Given the description of an element on the screen output the (x, y) to click on. 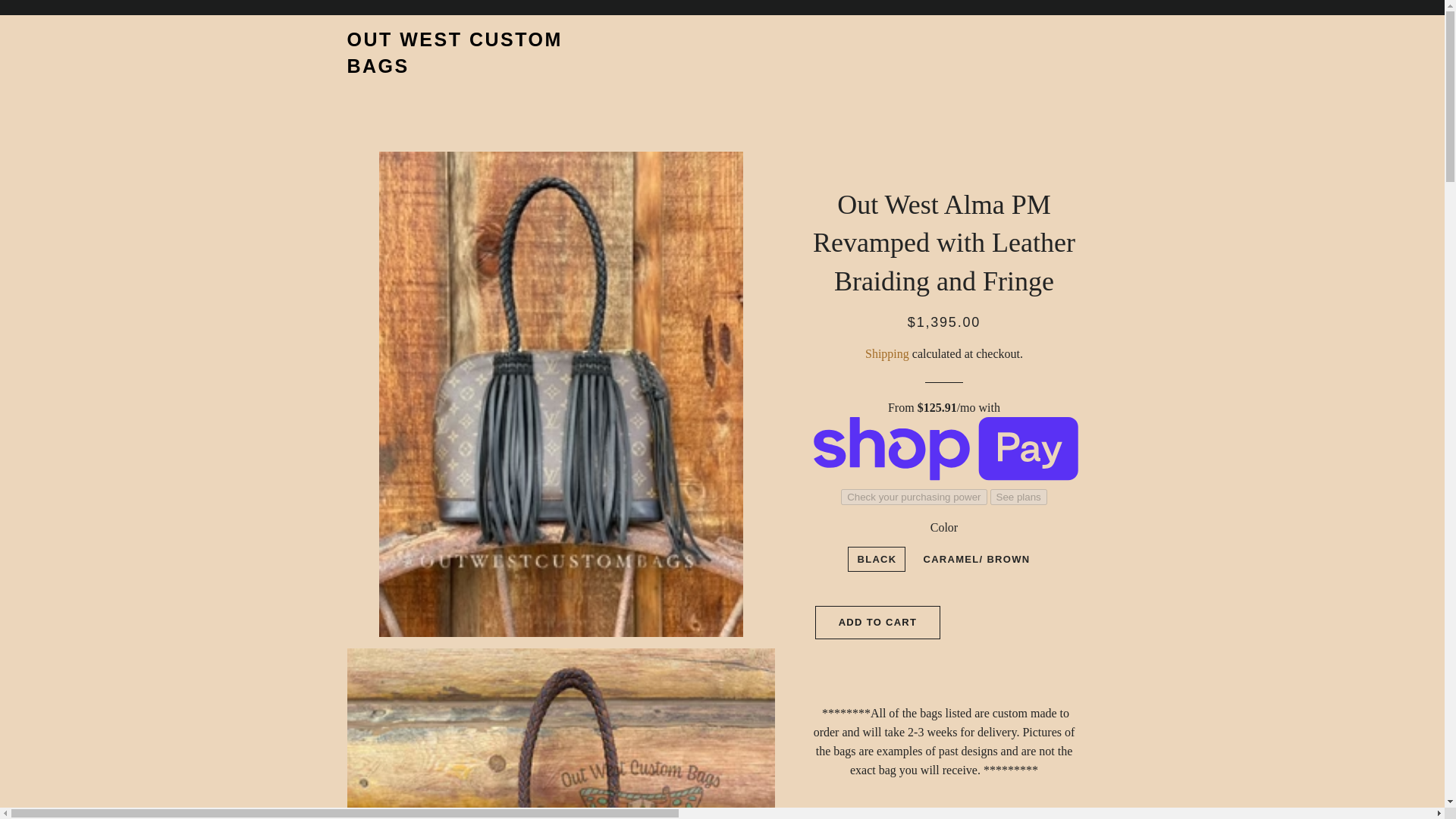
Shipping (886, 353)
OUT WEST CUSTOM BAGS (471, 52)
ADD TO CART (877, 622)
